Given the description of an element on the screen output the (x, y) to click on. 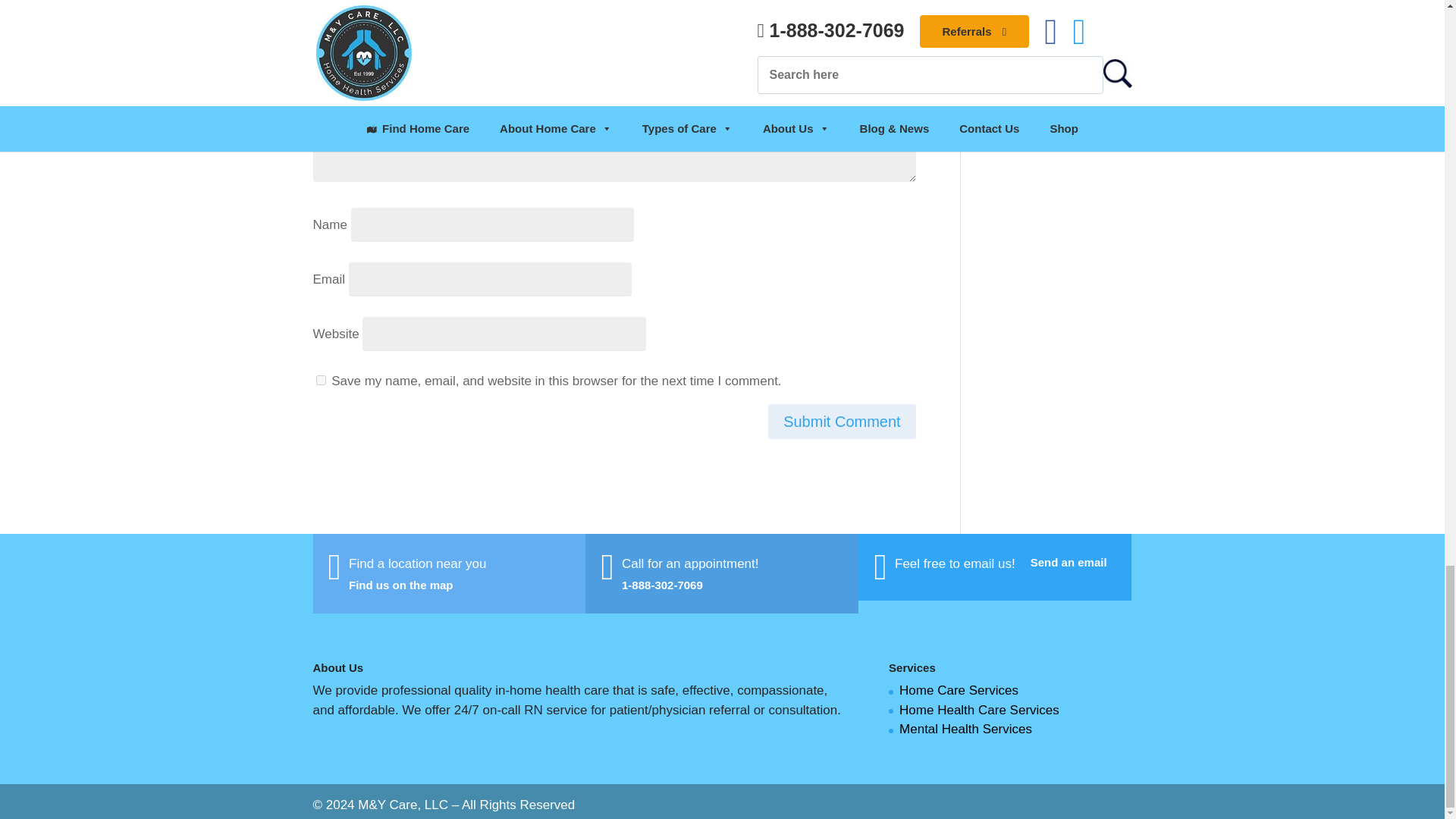
Submit Comment (841, 421)
Submit Comment (841, 421)
yes (319, 379)
